Given the description of an element on the screen output the (x, y) to click on. 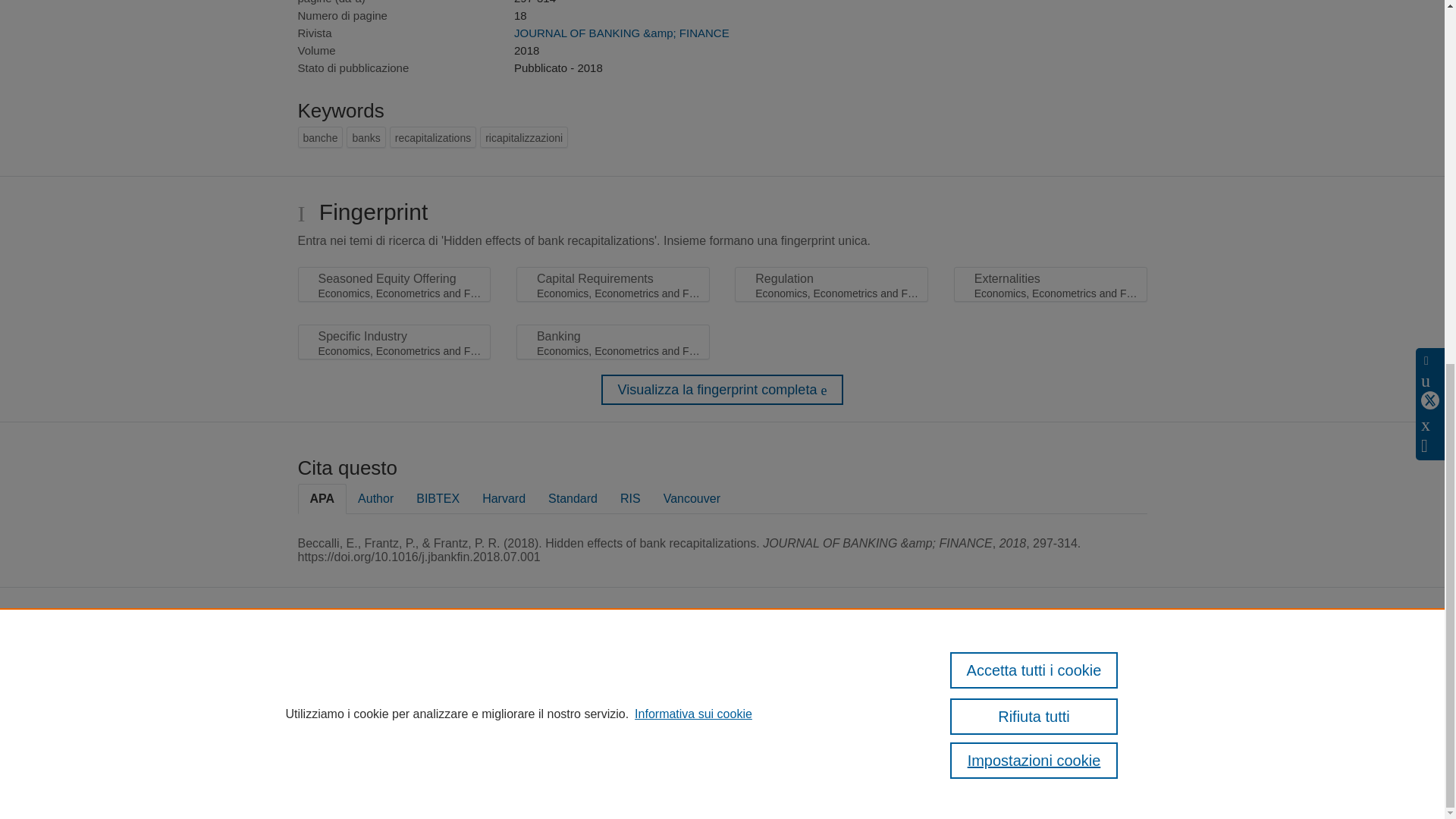
Scopus (644, 663)
l'uso dei cookie (836, 760)
Elsevier B.V. (803, 683)
Visualizza la fingerprint completa (722, 389)
Pure (612, 663)
